Given the description of an element on the screen output the (x, y) to click on. 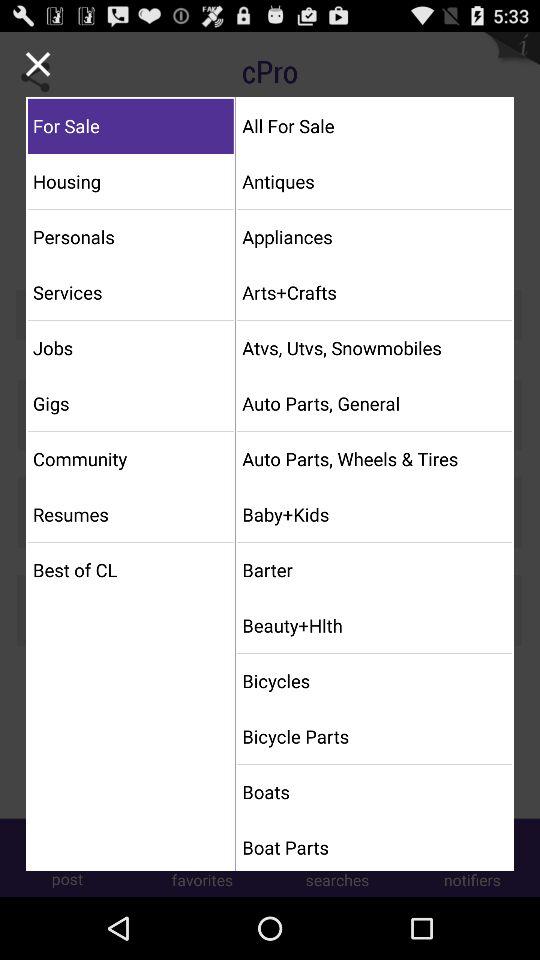
turn on the app above best of cl (130, 514)
